Given the description of an element on the screen output the (x, y) to click on. 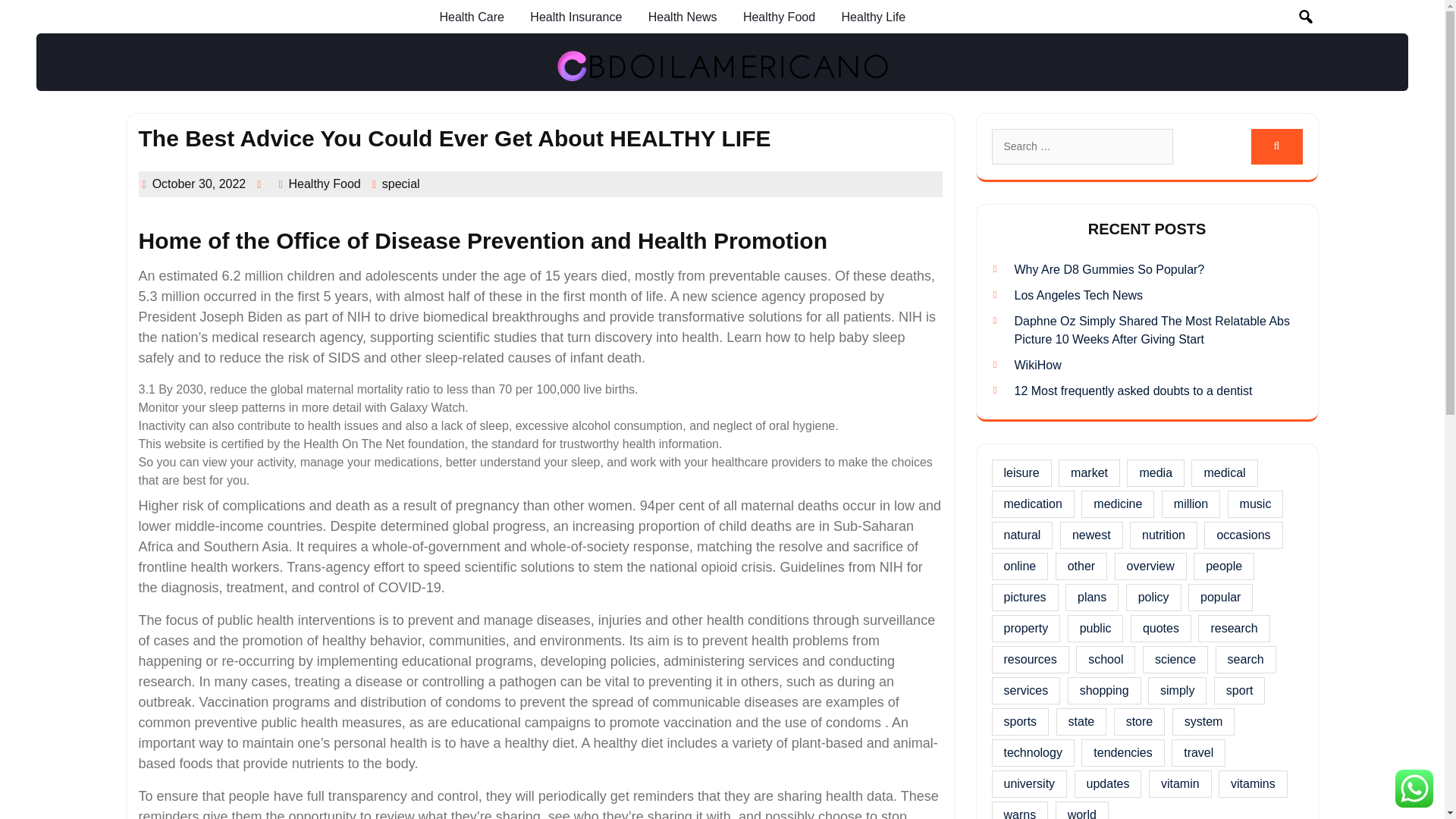
media (1155, 472)
special (400, 183)
Why Are D8 Gummies So Popular? (1109, 269)
people (1223, 565)
Health Care (471, 16)
newest (1090, 534)
medication (1032, 503)
online (1019, 565)
Los Angeles Tech News (1078, 295)
